Given the description of an element on the screen output the (x, y) to click on. 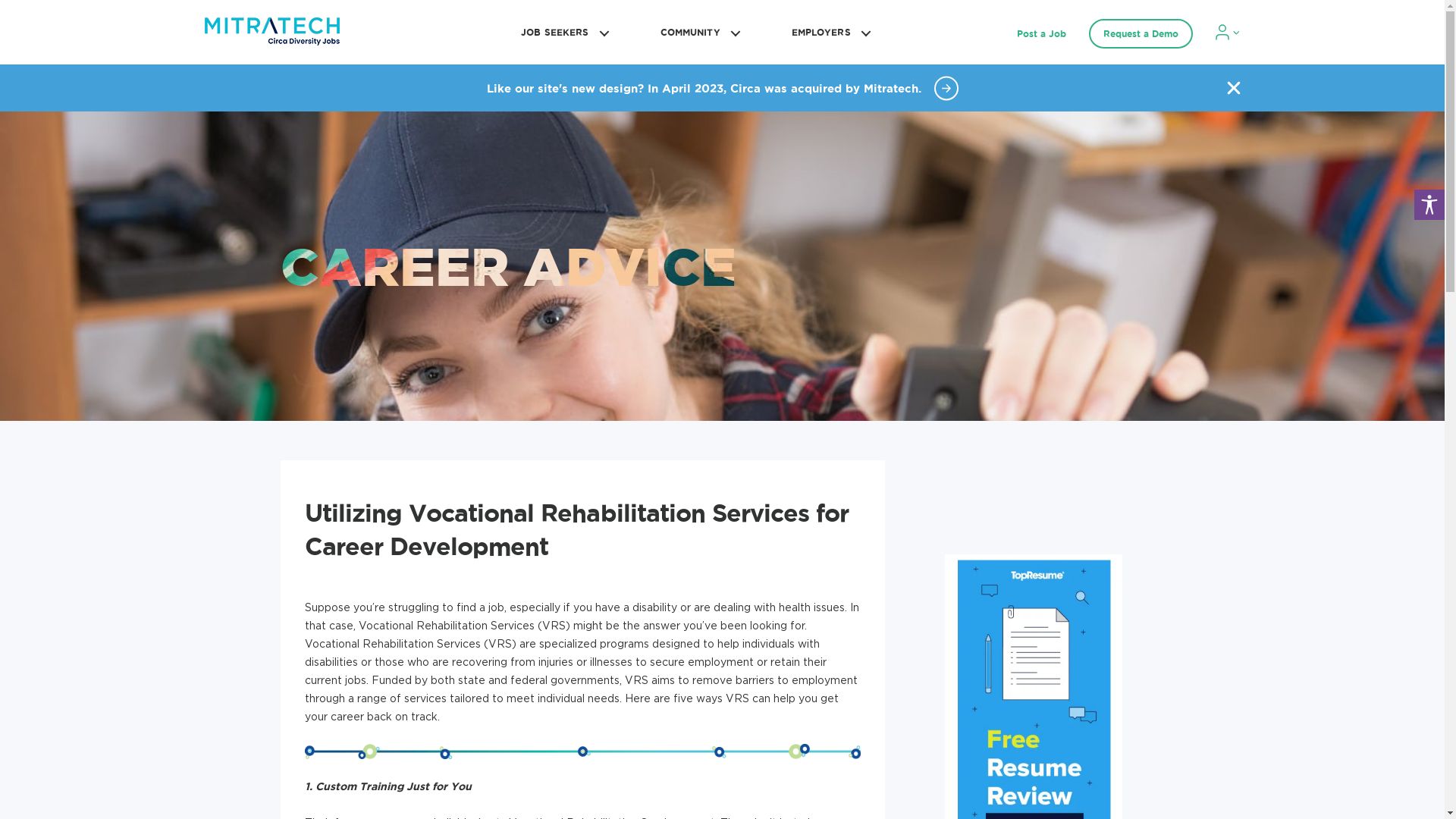
EMPLOYERS (829, 31)
JOB SEEKERS (562, 31)
COMMUNITY (698, 31)
